Given the description of an element on the screen output the (x, y) to click on. 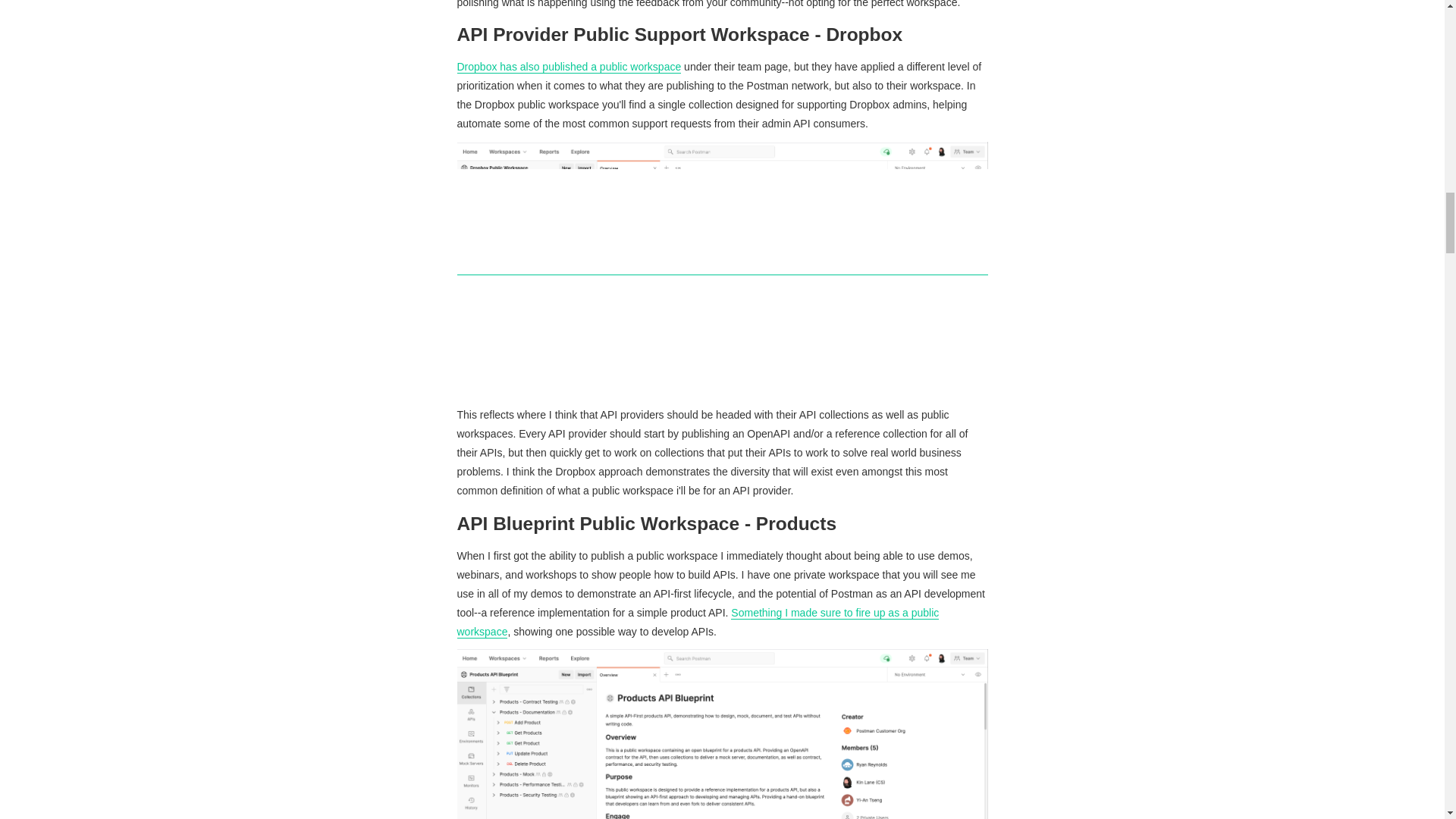
Something I made sure to fire up as a public workspace (698, 622)
Dropbox has also published a public workspace (569, 66)
